Given the description of an element on the screen output the (x, y) to click on. 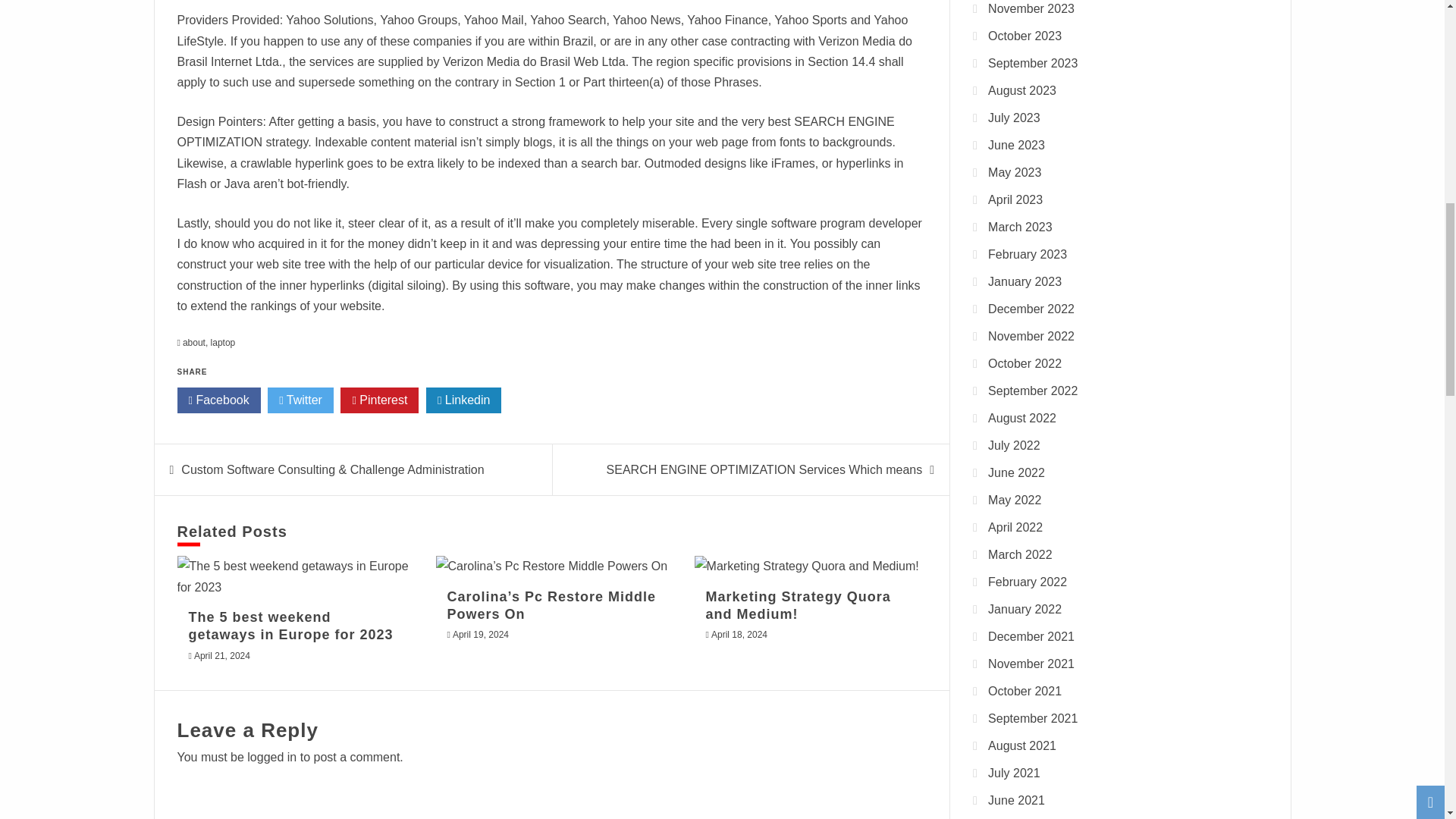
about (194, 342)
April 19, 2024 (480, 634)
Twitter (300, 400)
SEARCH ENGINE OPTIMIZATION Services Which means (765, 469)
Marketing Strategy Quora and Medium! (806, 566)
Pinterest (379, 400)
Linkedin (464, 400)
laptop (223, 342)
The 5 best weekend getaways in Europe for 2023 (290, 625)
The 5 best weekend getaways in Europe for 2023 (293, 576)
